Given the description of an element on the screen output the (x, y) to click on. 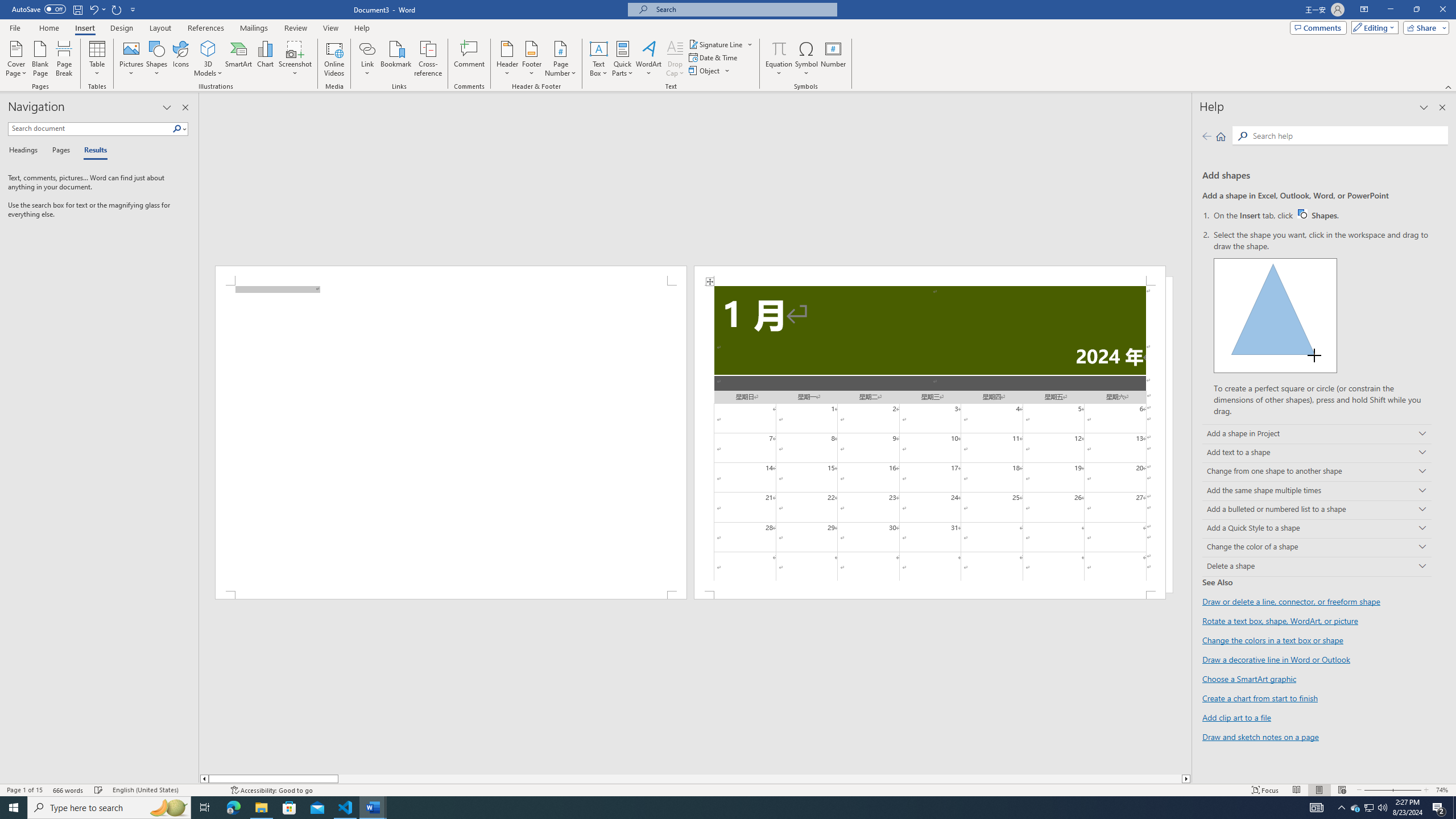
Cross-reference... (428, 58)
Add a bulleted or numbered list to a shape (1316, 510)
Close pane (185, 107)
Number... (833, 58)
Add a Quick Style to a shape (1316, 529)
Class: NetUIImage (177, 128)
Equation (778, 48)
Search (179, 128)
Zoom In (1403, 790)
Online Videos... (333, 58)
Design (122, 28)
More Options (778, 68)
Header -Section 1- (930, 275)
